Given the description of an element on the screen output the (x, y) to click on. 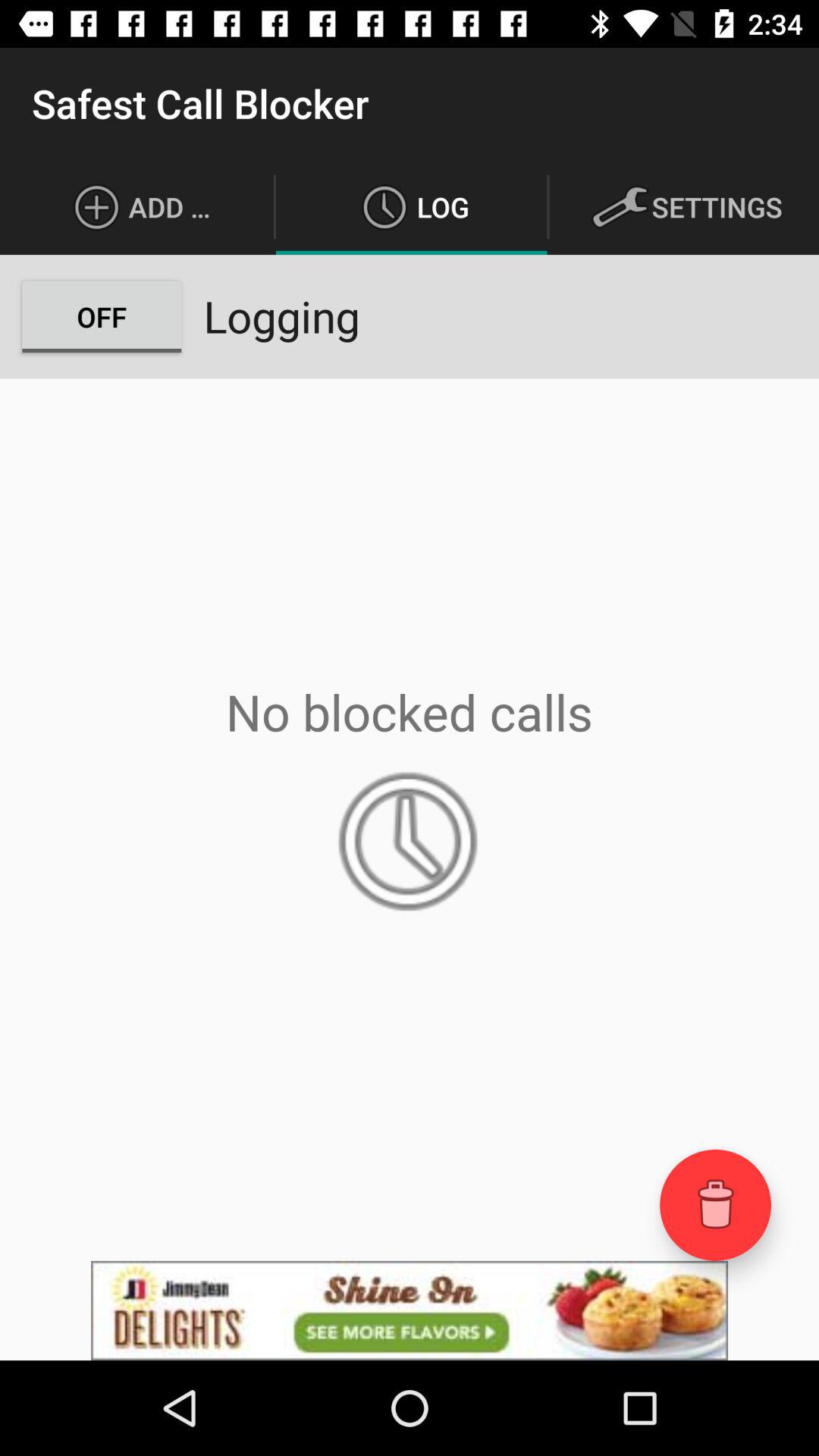
delete selection (715, 1204)
